Given the description of an element on the screen output the (x, y) to click on. 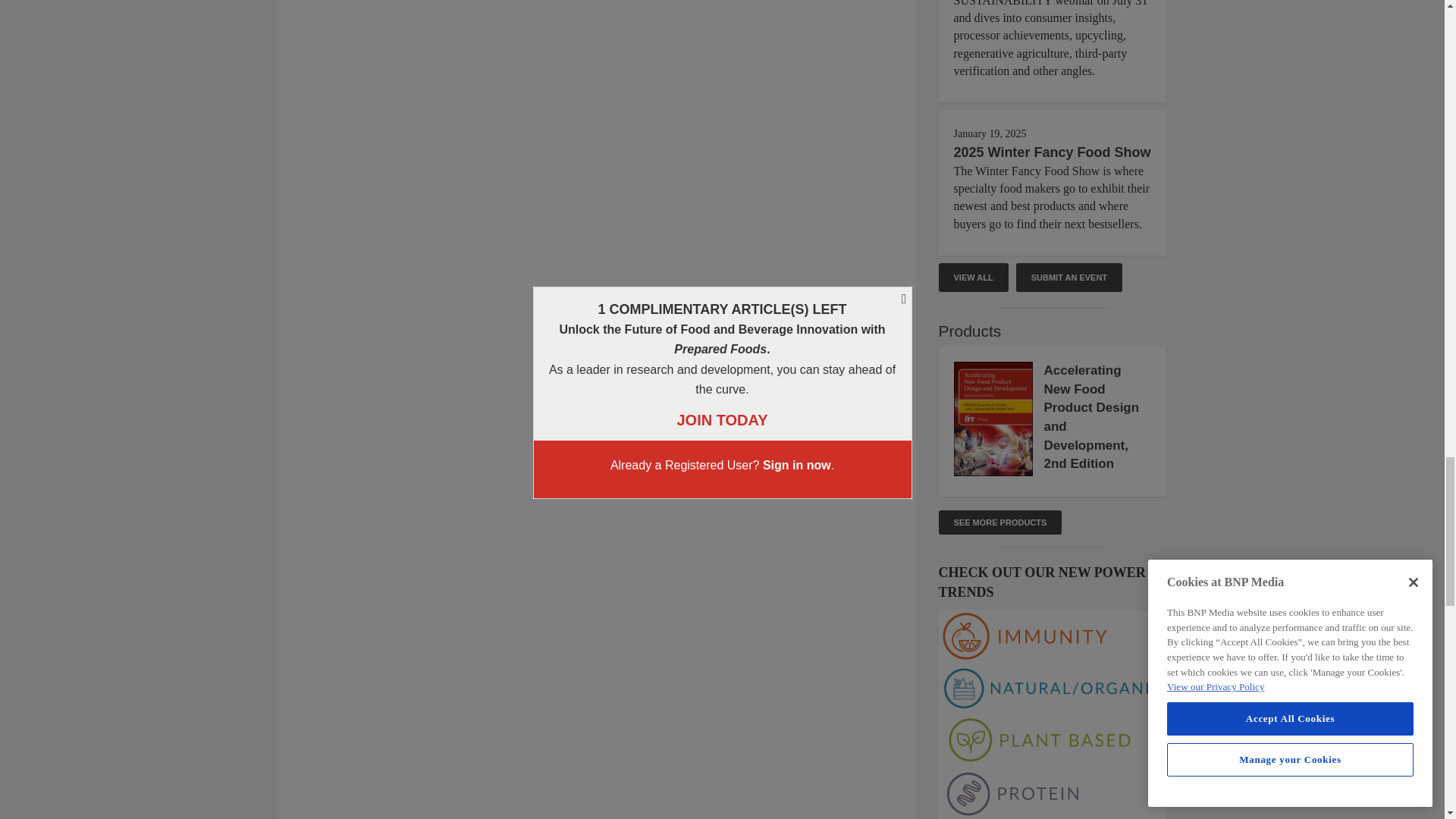
2025 Winter Fancy Food Show (1052, 151)
